Given the description of an element on the screen output the (x, y) to click on. 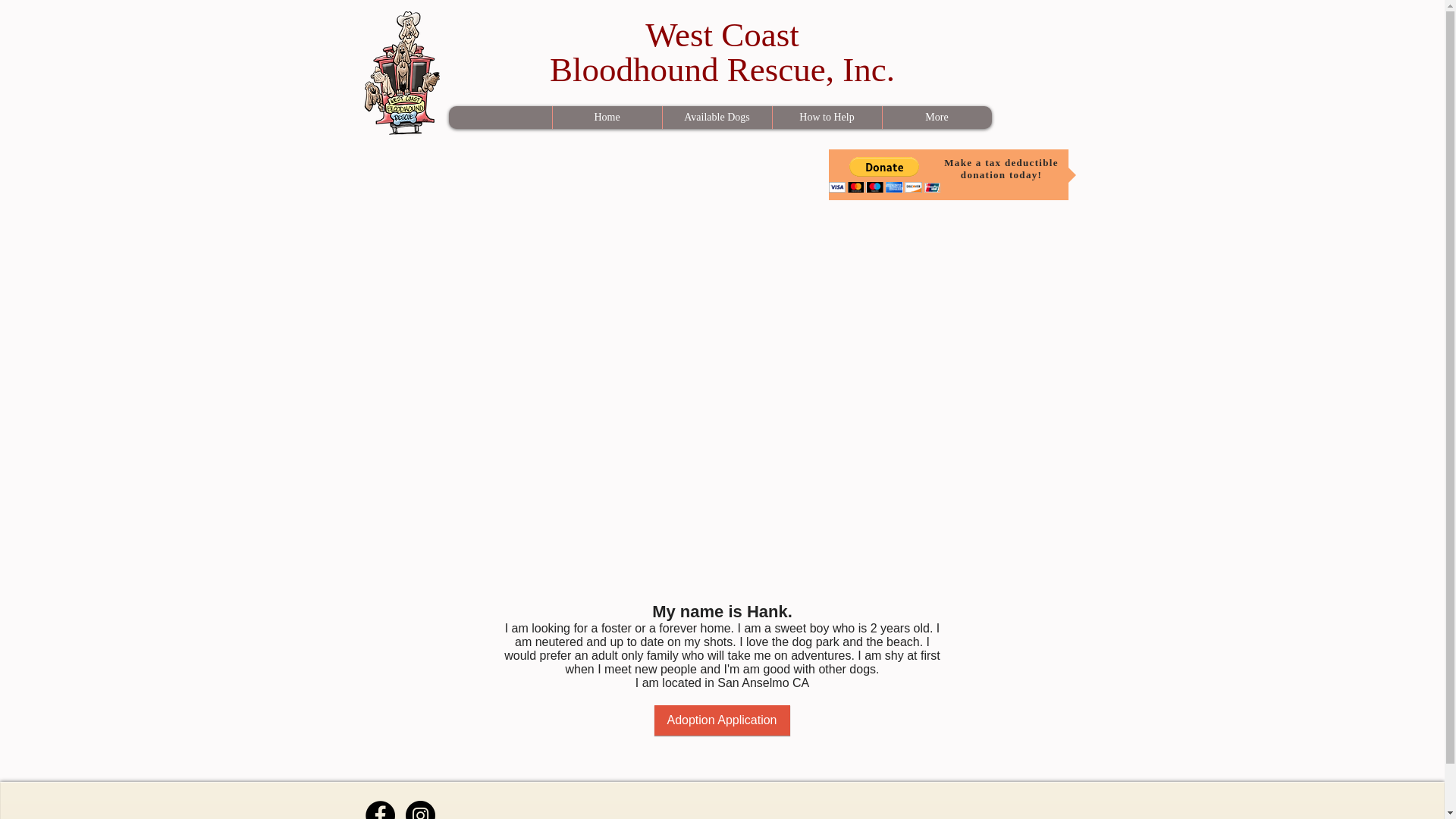
How to Help (826, 117)
Adoption Application (721, 720)
Available Dogs (722, 51)
Home (716, 117)
